Given the description of an element on the screen output the (x, y) to click on. 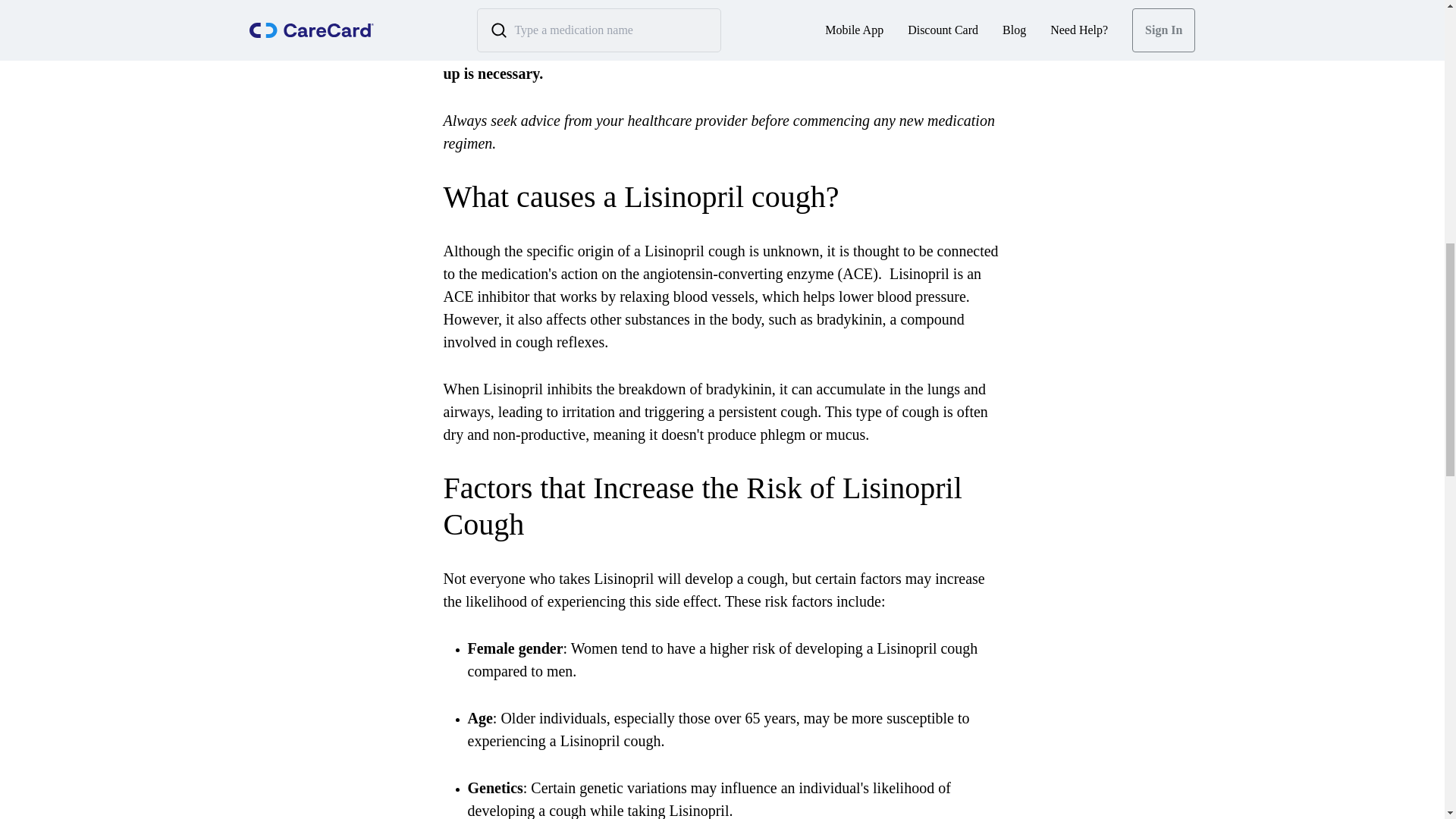
Lisinopril (654, 27)
